Given the description of an element on the screen output the (x, y) to click on. 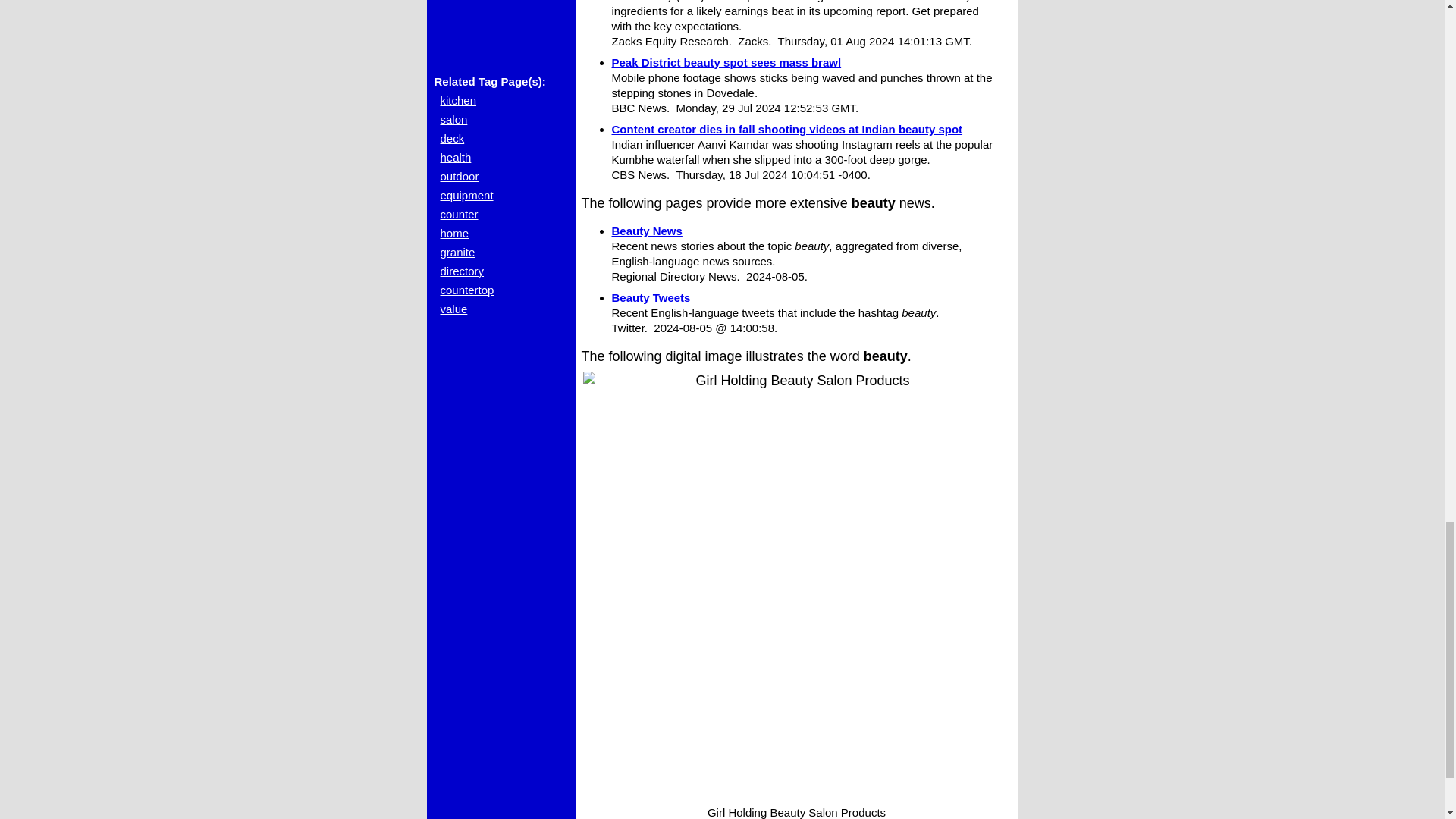
Beauty News (646, 230)
Beauty Tweets (650, 297)
Peak District beauty spot sees mass brawl (726, 62)
